Given the description of an element on the screen output the (x, y) to click on. 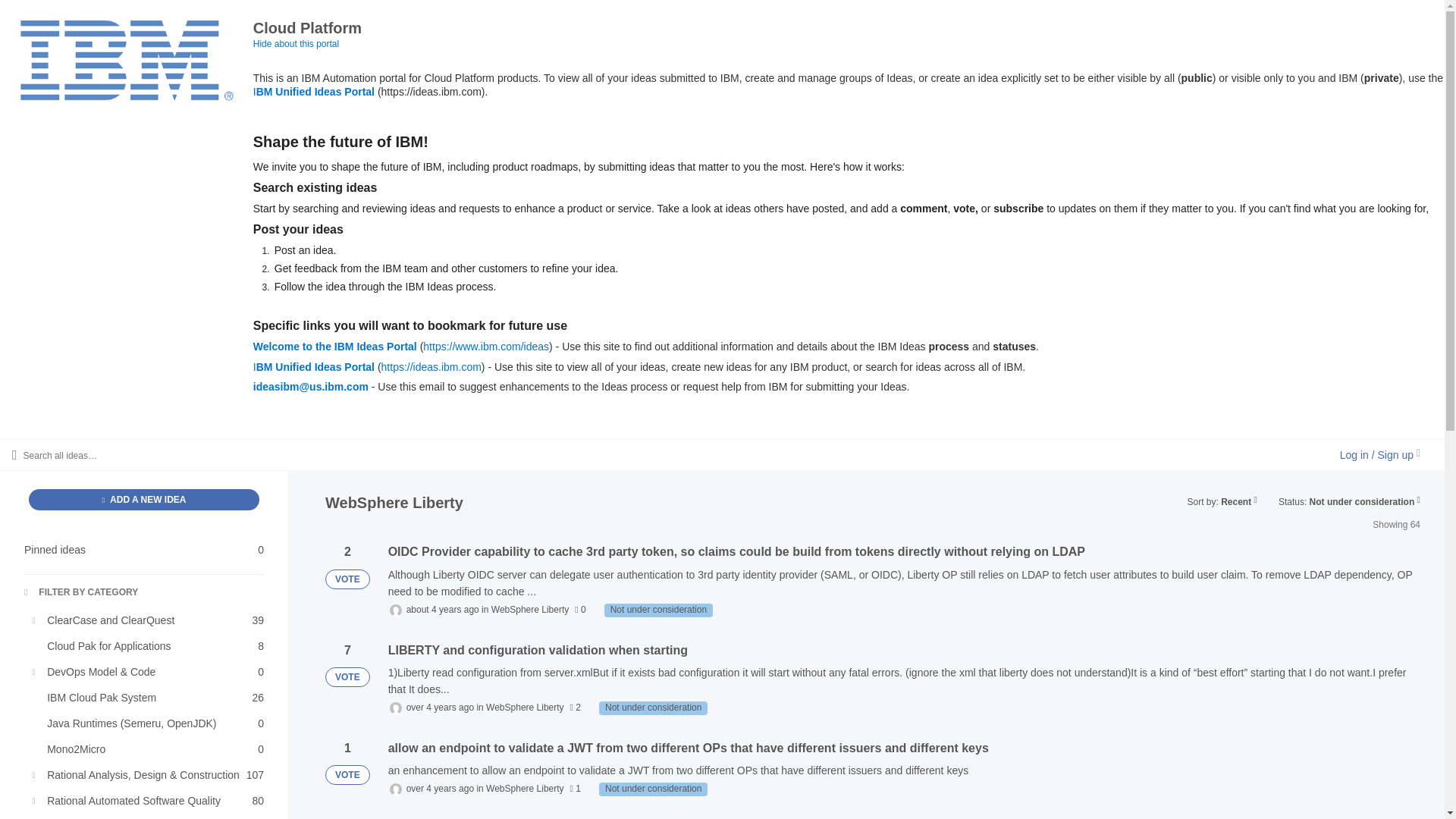
IBM Unified Ideas Portal (150, 645)
FILTER BY CATEGORY (313, 91)
Not under consideration (81, 592)
Not under consideration (658, 610)
IBM Unified Ideas Portal (652, 789)
Welcome to the IBM Ideas Portal (313, 367)
Not under consideration (334, 346)
ADD A NEW IDEA (143, 549)
Hide about this portal (150, 800)
